Given the description of an element on the screen output the (x, y) to click on. 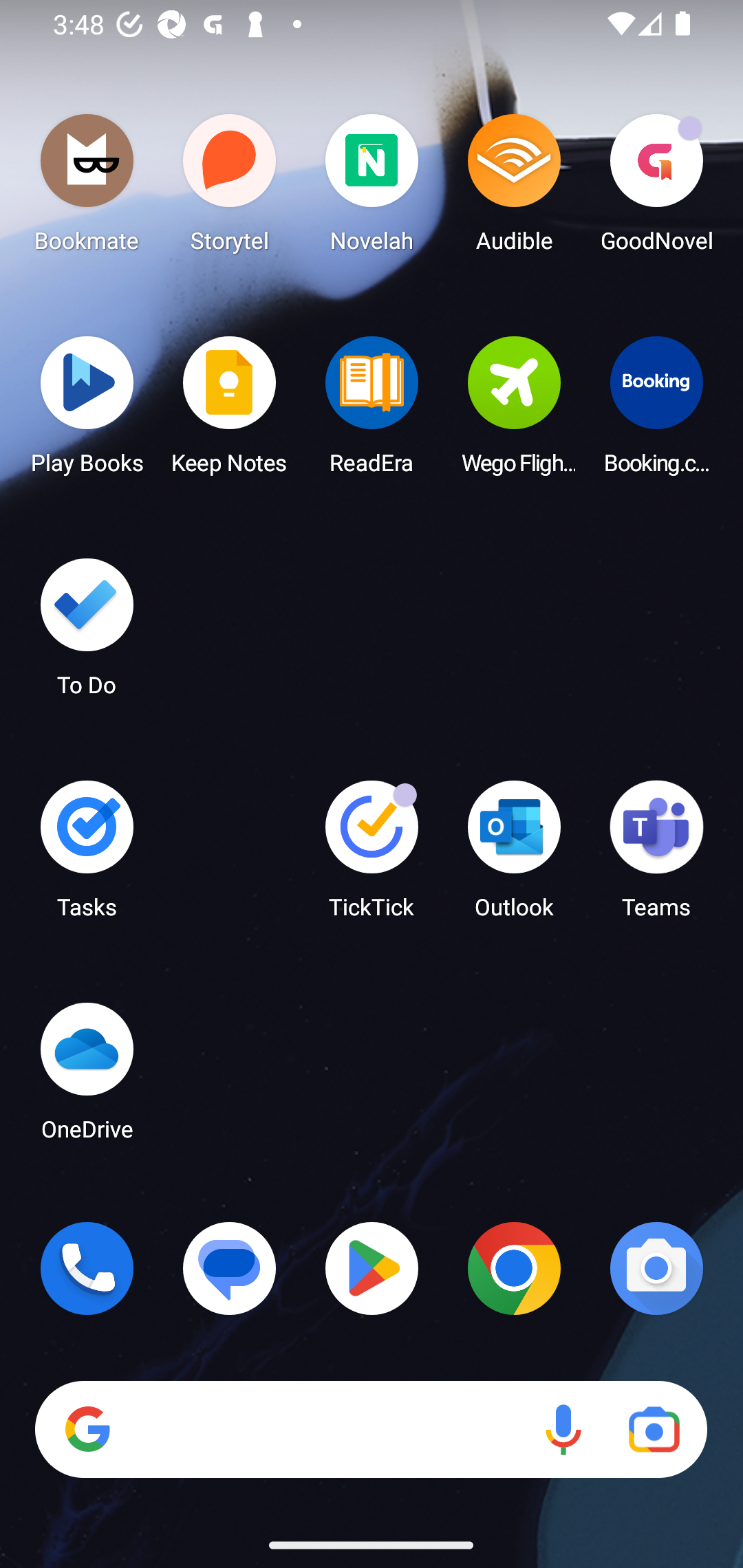
Bookmate (86, 188)
Storytel (229, 188)
Novelah (371, 188)
Audible (513, 188)
GoodNovel GoodNovel has 1 notification (656, 188)
Play Books (86, 410)
Keep Notes (229, 410)
ReadEra (371, 410)
Wego Flights & Hotels (513, 410)
Booking.com (656, 410)
To Do (86, 633)
Tasks (86, 854)
TickTick TickTick has 3 notifications (371, 854)
Outlook (513, 854)
Teams (656, 854)
OneDrive (86, 1076)
Phone (86, 1268)
Messages (229, 1268)
Play Store (371, 1268)
Chrome (513, 1268)
Camera (656, 1268)
Search Voice search Google Lens (370, 1429)
Voice search (562, 1429)
Google Lens (653, 1429)
